Given the description of an element on the screen output the (x, y) to click on. 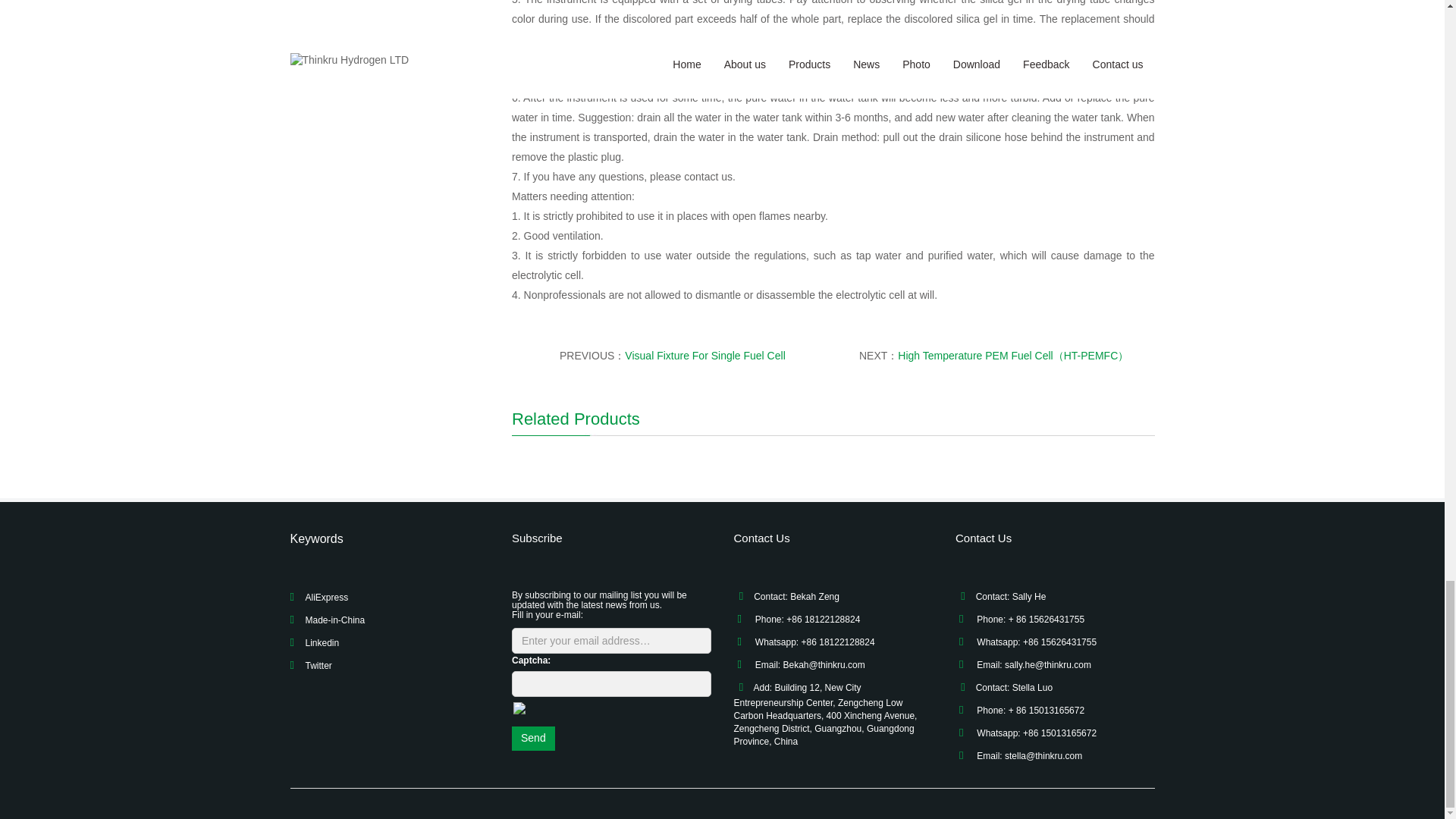
Twitter (317, 665)
Linkedin (321, 643)
Made-in-China (334, 620)
Visual Fixture For Single Fuel Cell (704, 355)
AliExpress (325, 597)
